Given the description of an element on the screen output the (x, y) to click on. 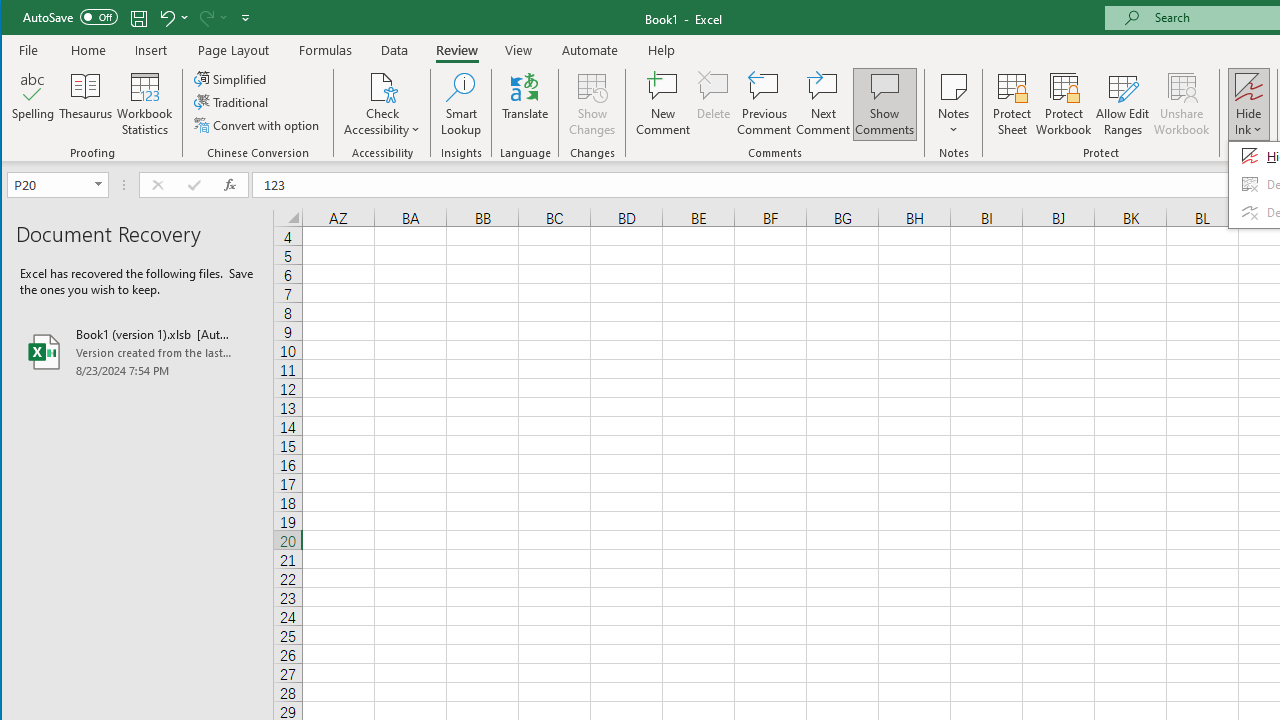
Traditional (232, 101)
Previous Comment (763, 104)
Translate (525, 104)
Protect Workbook... (1064, 104)
